Given the description of an element on the screen output the (x, y) to click on. 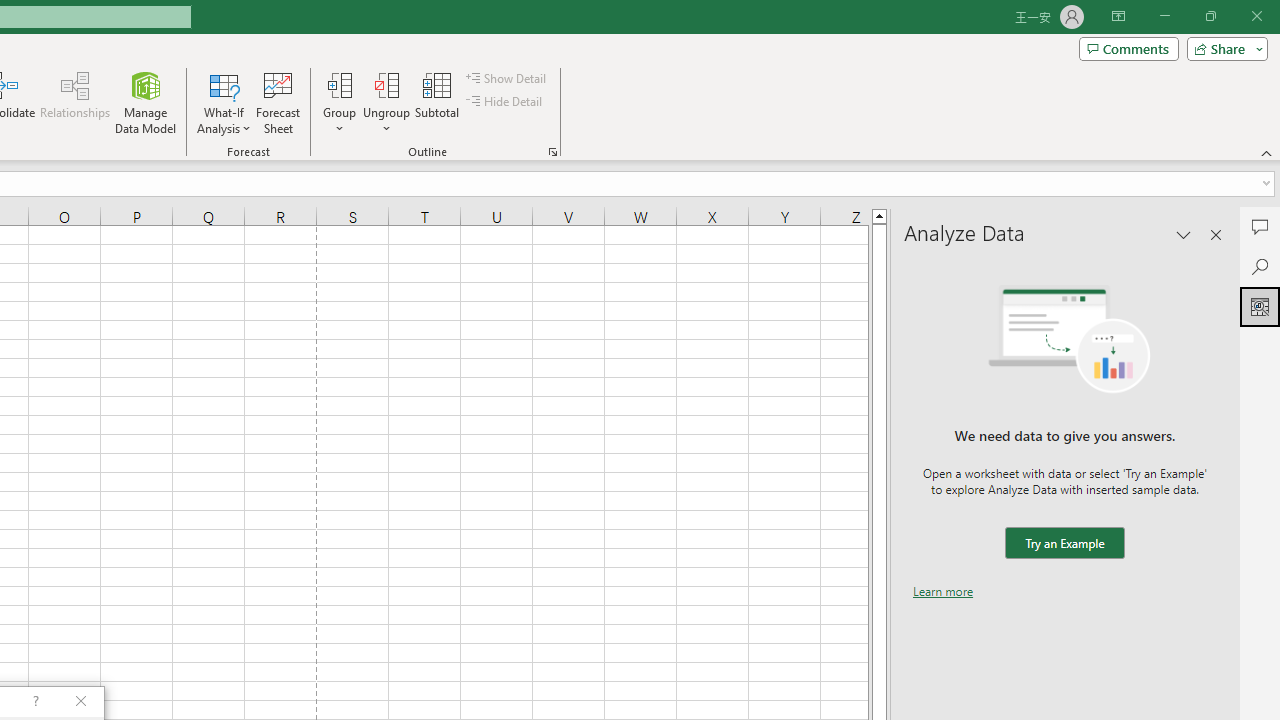
Learn more (943, 591)
We need data to give you answers. Try an Example (1064, 543)
